Given the description of an element on the screen output the (x, y) to click on. 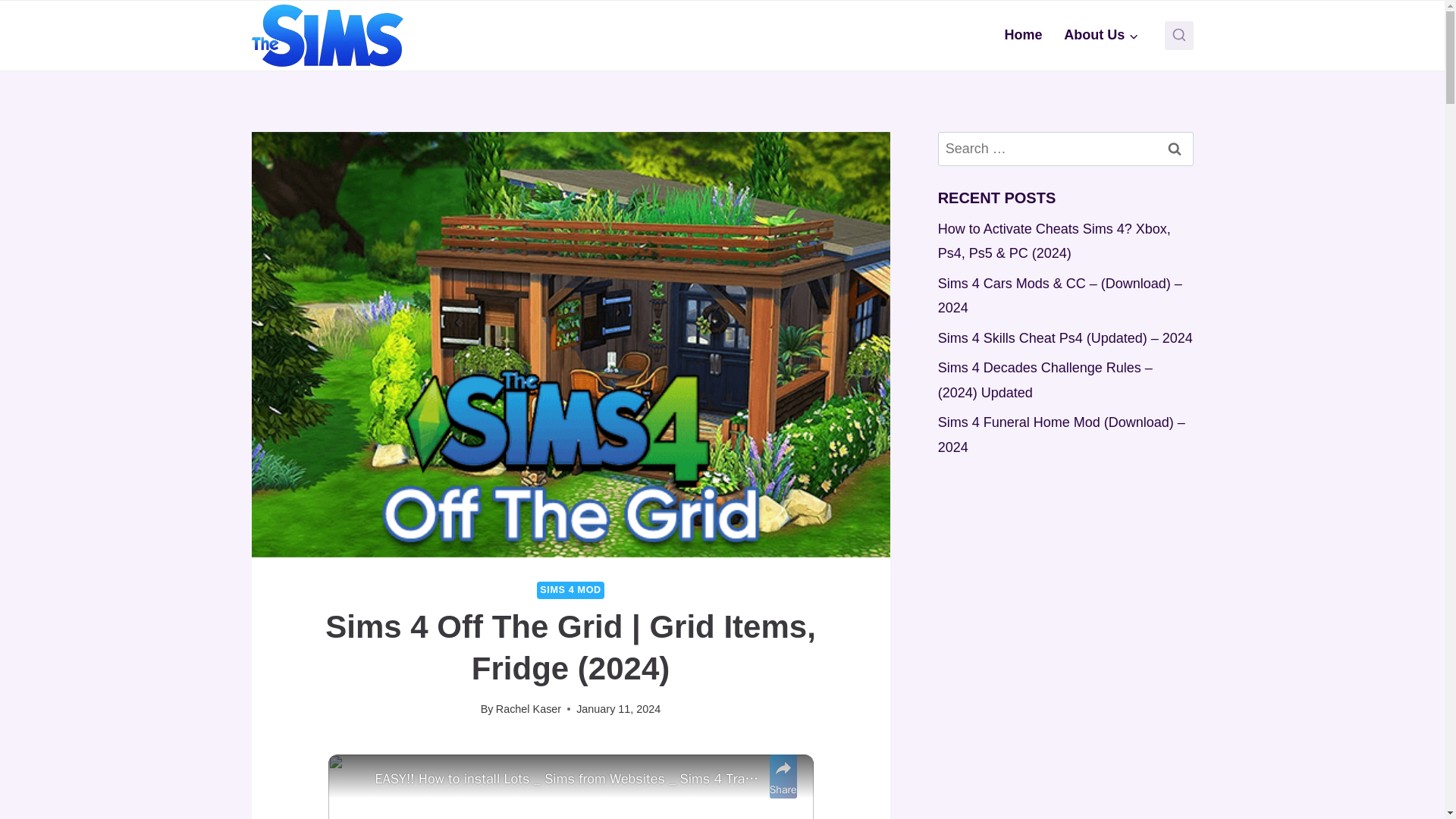
SIMS 4 MOD (570, 589)
Search (1174, 148)
About Us (1101, 34)
Search (1174, 148)
Rachel Kaser (528, 708)
Home (1022, 34)
